Given the description of an element on the screen output the (x, y) to click on. 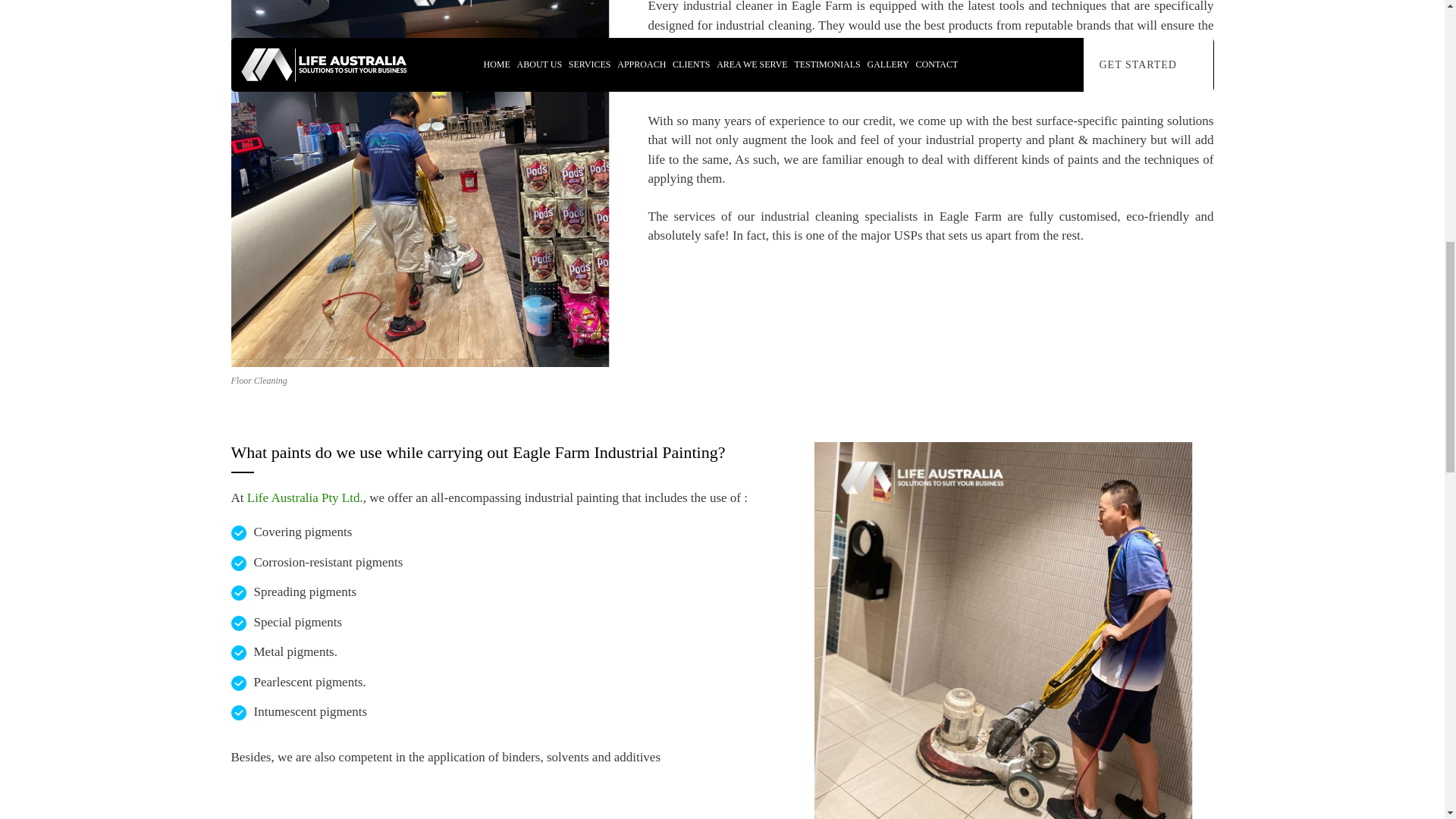
Life Australia Pty Ltd (303, 497)
